Given the description of an element on the screen output the (x, y) to click on. 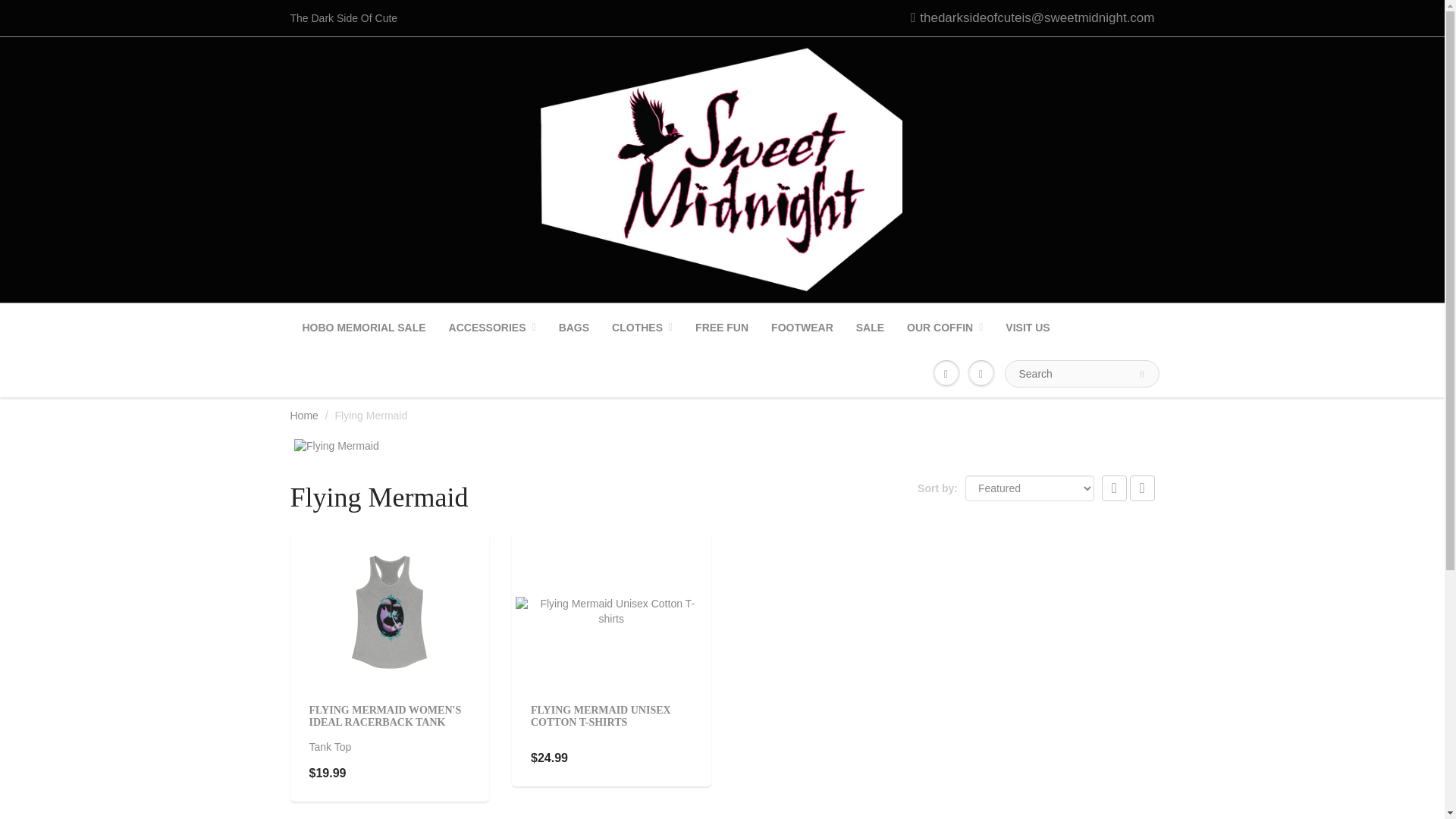
Grid view (1114, 488)
ACCESSORIES (492, 327)
Home (303, 415)
FREE FUN (722, 327)
OUR COFFIN (944, 327)
HOBO MEMORIAL SALE (364, 327)
FOOTWEAR (802, 327)
BAGS (573, 327)
Home (303, 415)
SALE (869, 327)
